Given the description of an element on the screen output the (x, y) to click on. 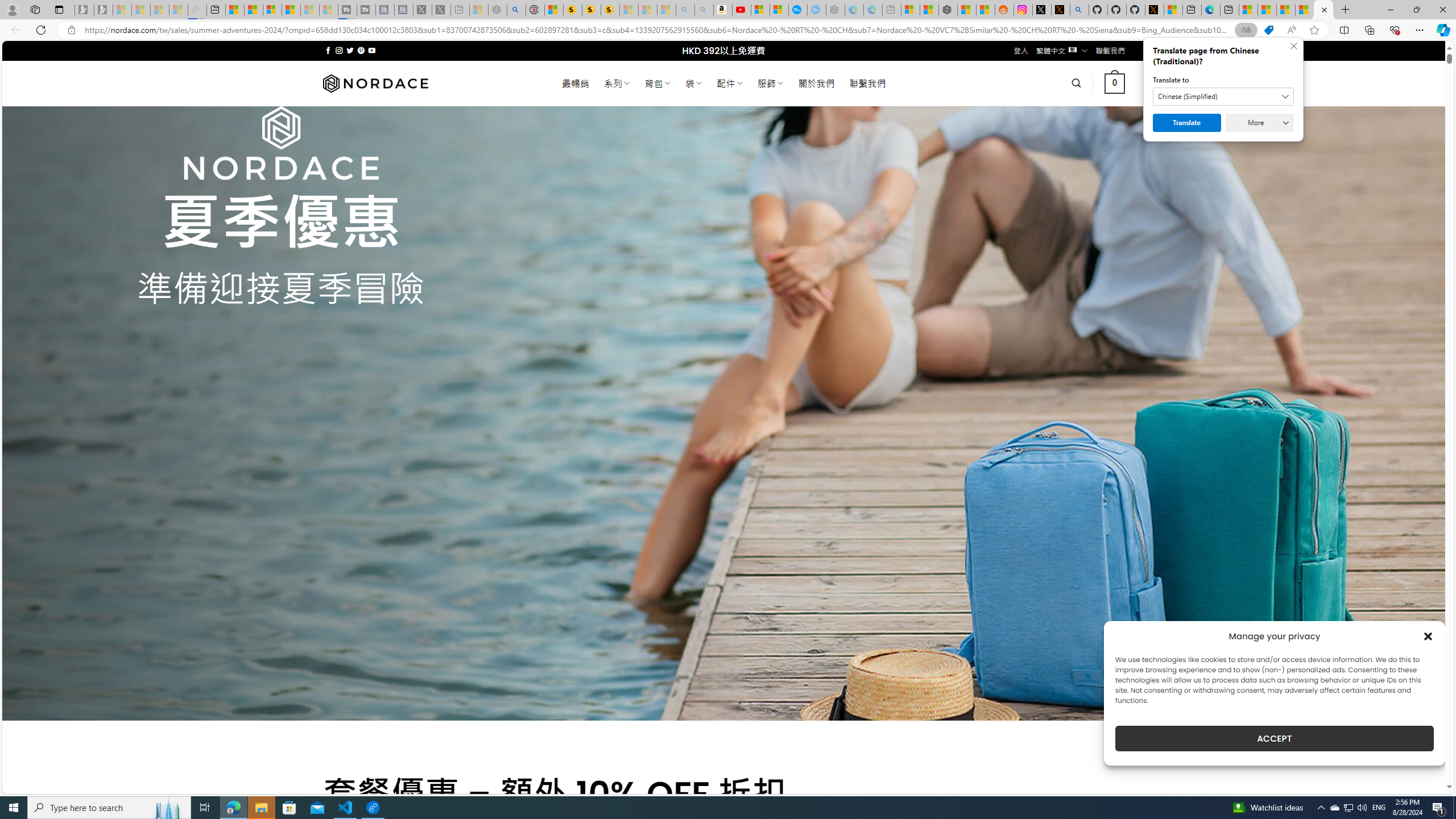
This site has coupons! Shopping in Microsoft Edge (1268, 29)
Nordace (374, 83)
Day 1: Arriving in Yemen (surreal to be here) - YouTube (741, 9)
poe - Search (515, 9)
Class: cmplz-close (1428, 636)
  0   (1115, 83)
Follow on Pinterest (360, 50)
Opinion: Op-Ed and Commentary - USA TODAY (797, 9)
help.x.com | 524: A timeout occurred (1060, 9)
